Given the description of an element on the screen output the (x, y) to click on. 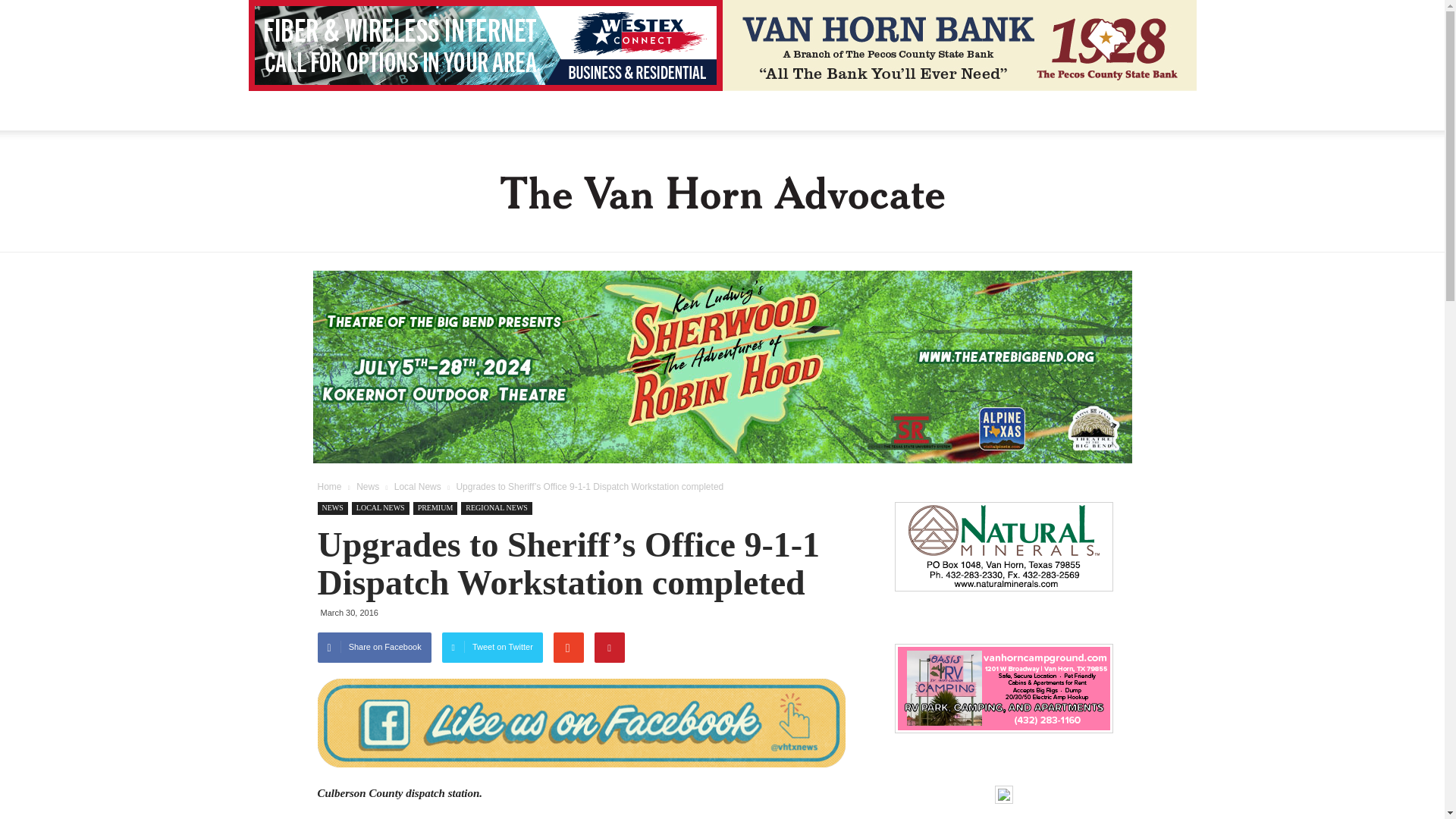
Local News (417, 486)
View all posts in Local News (417, 486)
FEATURES (616, 110)
REGIONAL NEWS (496, 508)
CITY HALL (473, 110)
CONTACT (934, 110)
HOME (343, 110)
View all posts in News (367, 486)
NEWS (332, 508)
RECENT (402, 110)
